Given the description of an element on the screen output the (x, y) to click on. 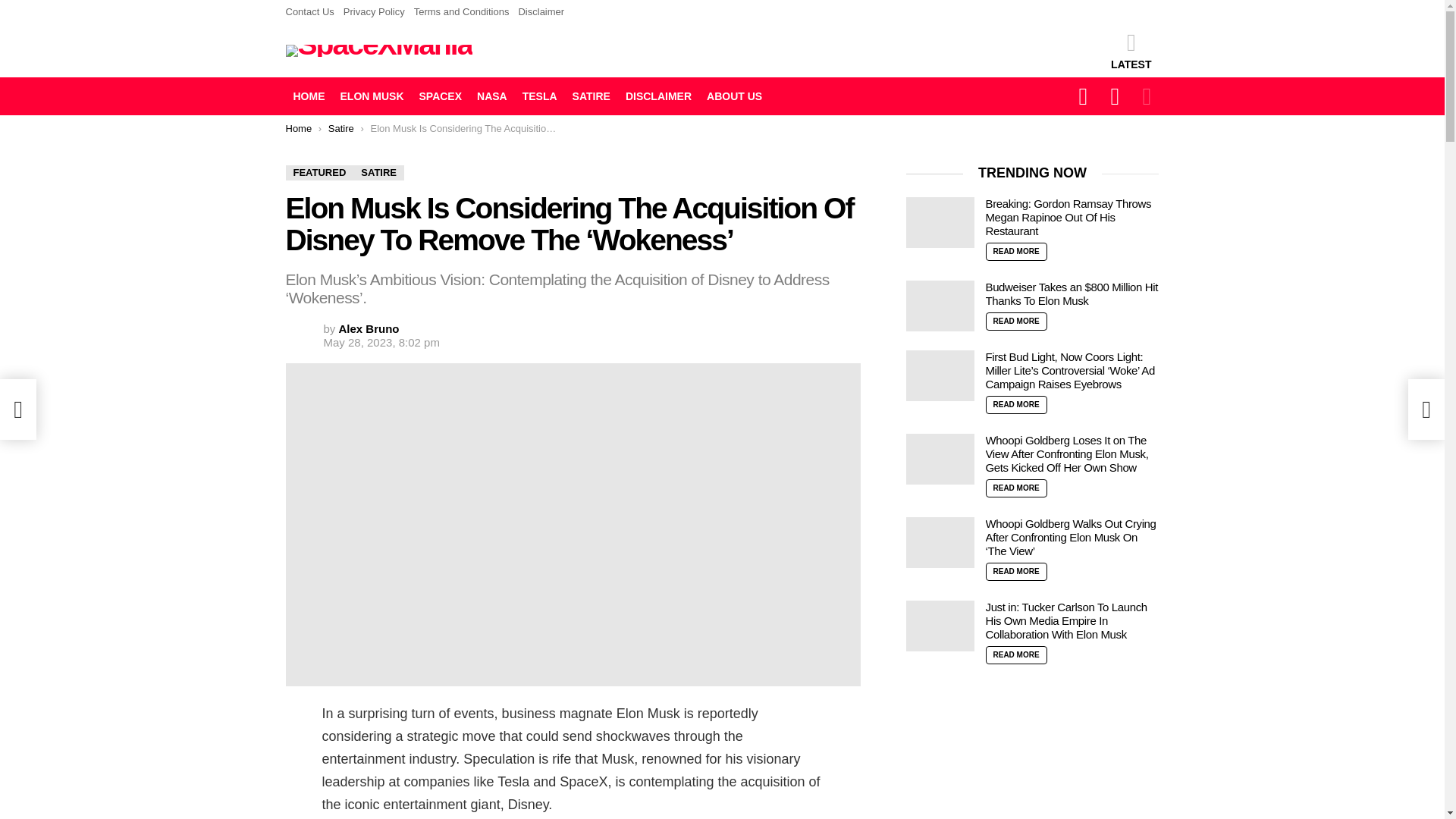
Home (298, 128)
Posts by Alex Bruno (368, 328)
Disclaimer (541, 12)
HOME (308, 96)
DISCLAIMER (657, 96)
TESLA (539, 96)
Contact Us (309, 12)
SATIRE (590, 96)
ABOUT US (734, 96)
ELON MUSK (370, 96)
